Given the description of an element on the screen output the (x, y) to click on. 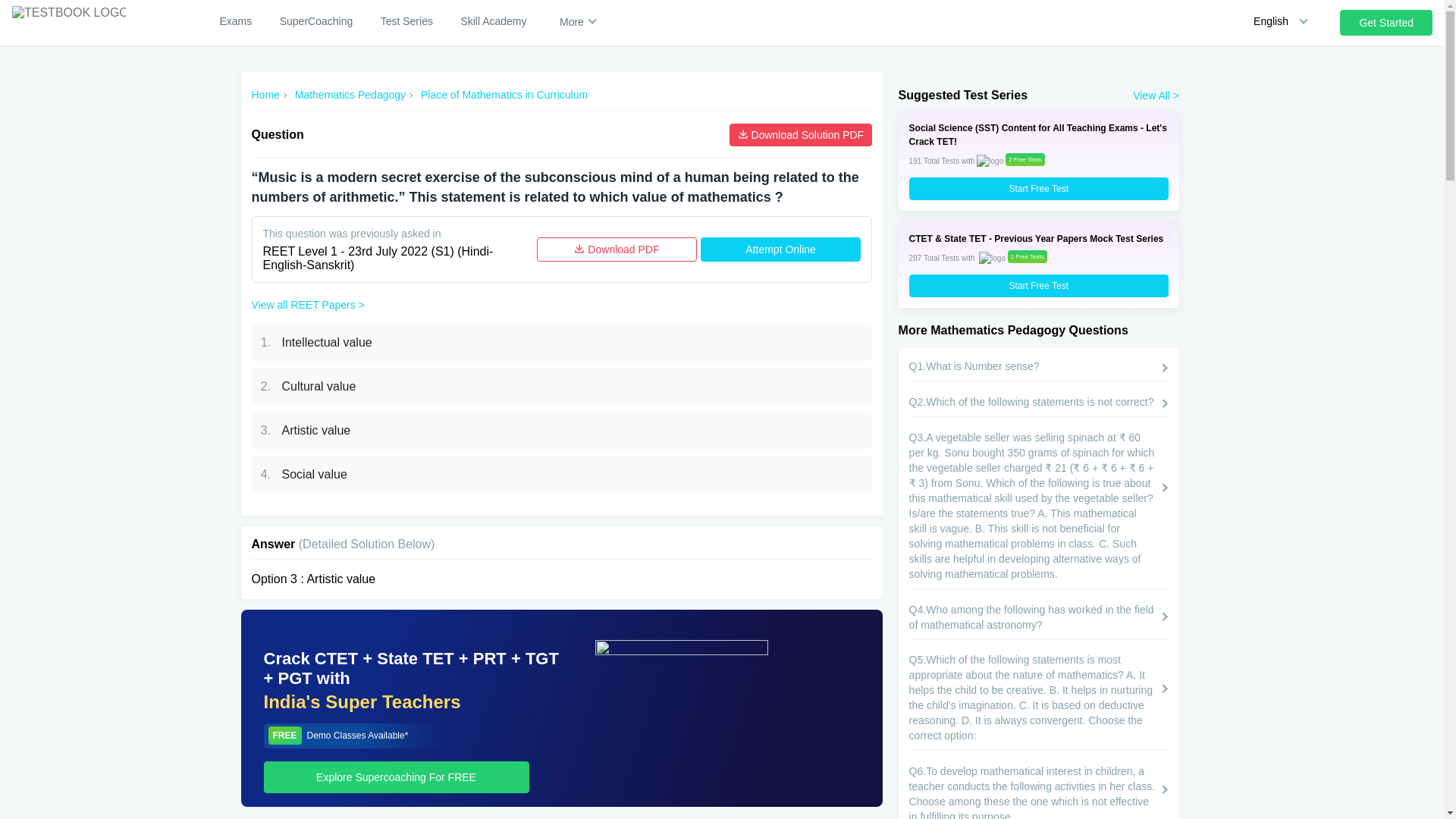
Place of Mathematics in Curriculum (504, 94)
Get Started (1385, 22)
SuperCoaching (316, 21)
Download PDF (617, 249)
Exams (234, 21)
Download Solution PDF (800, 134)
Home (265, 94)
Mathematics Pedagogy (350, 94)
Mathematics Pedagogy (350, 94)
Test Series (406, 21)
Place of Mathematics in Curriculum (504, 94)
Attempt Online (780, 249)
Skill Academy (493, 21)
